Given the description of an element on the screen output the (x, y) to click on. 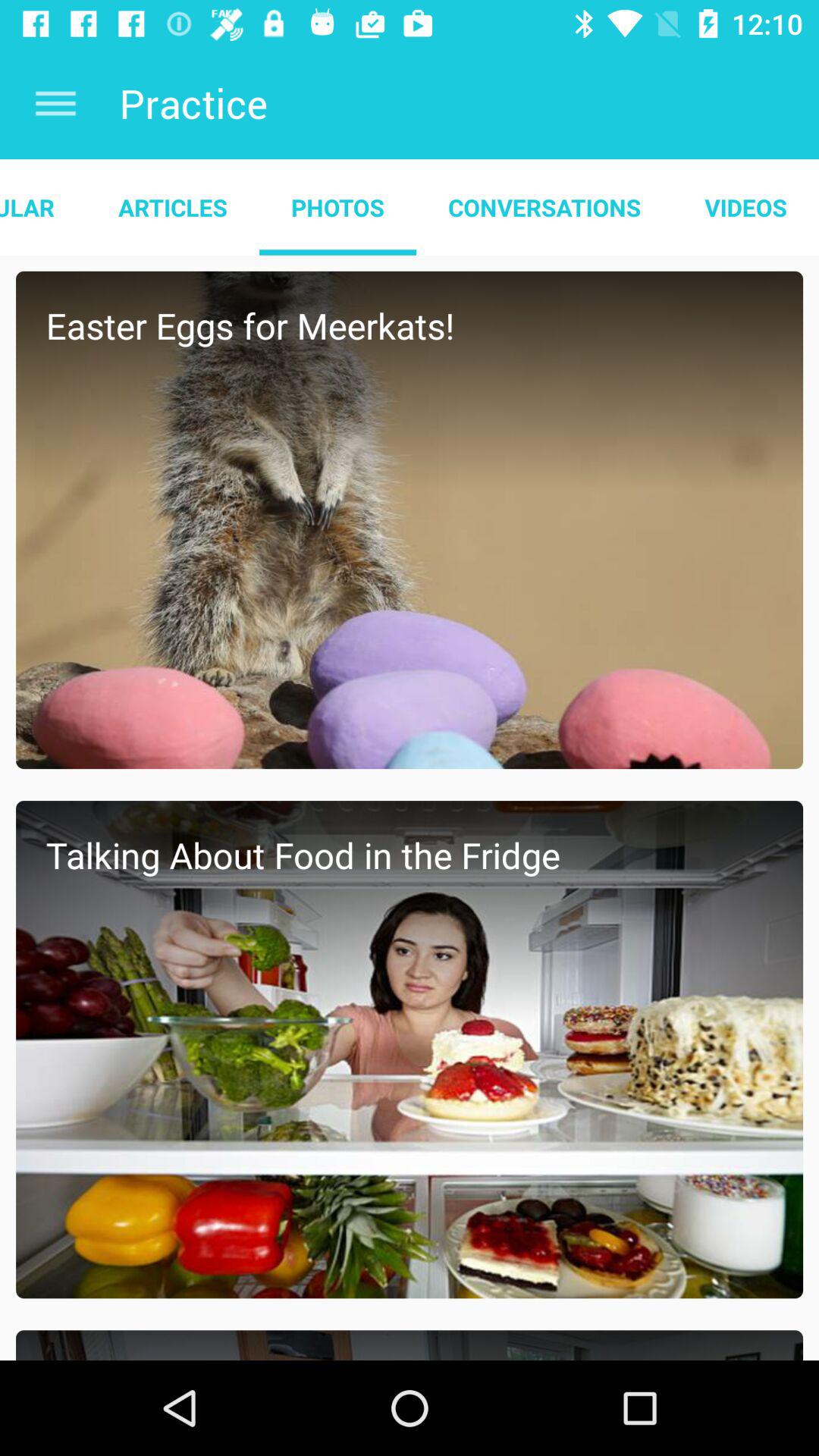
turn on app next to the articles (337, 207)
